Given the description of an element on the screen output the (x, y) to click on. 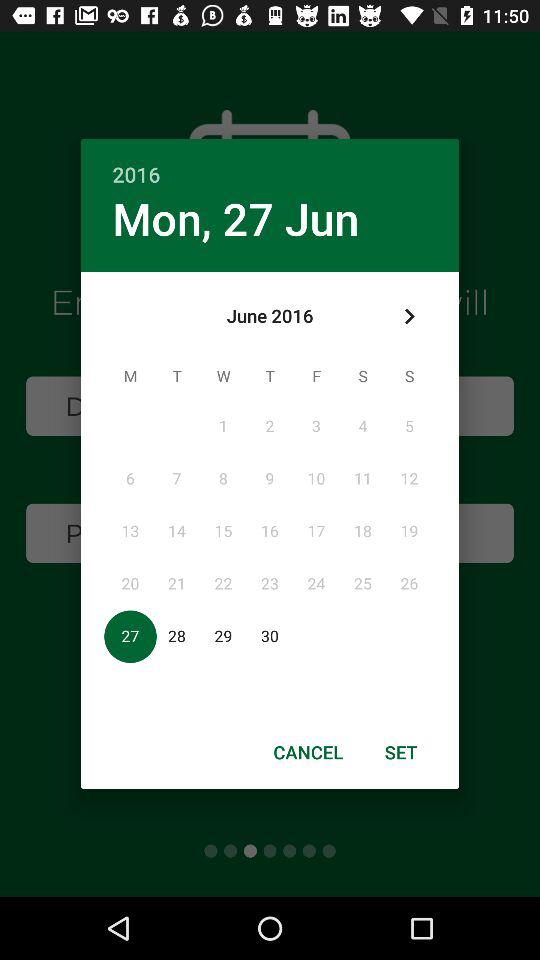
launch 2016 icon (269, 163)
